Given the description of an element on the screen output the (x, y) to click on. 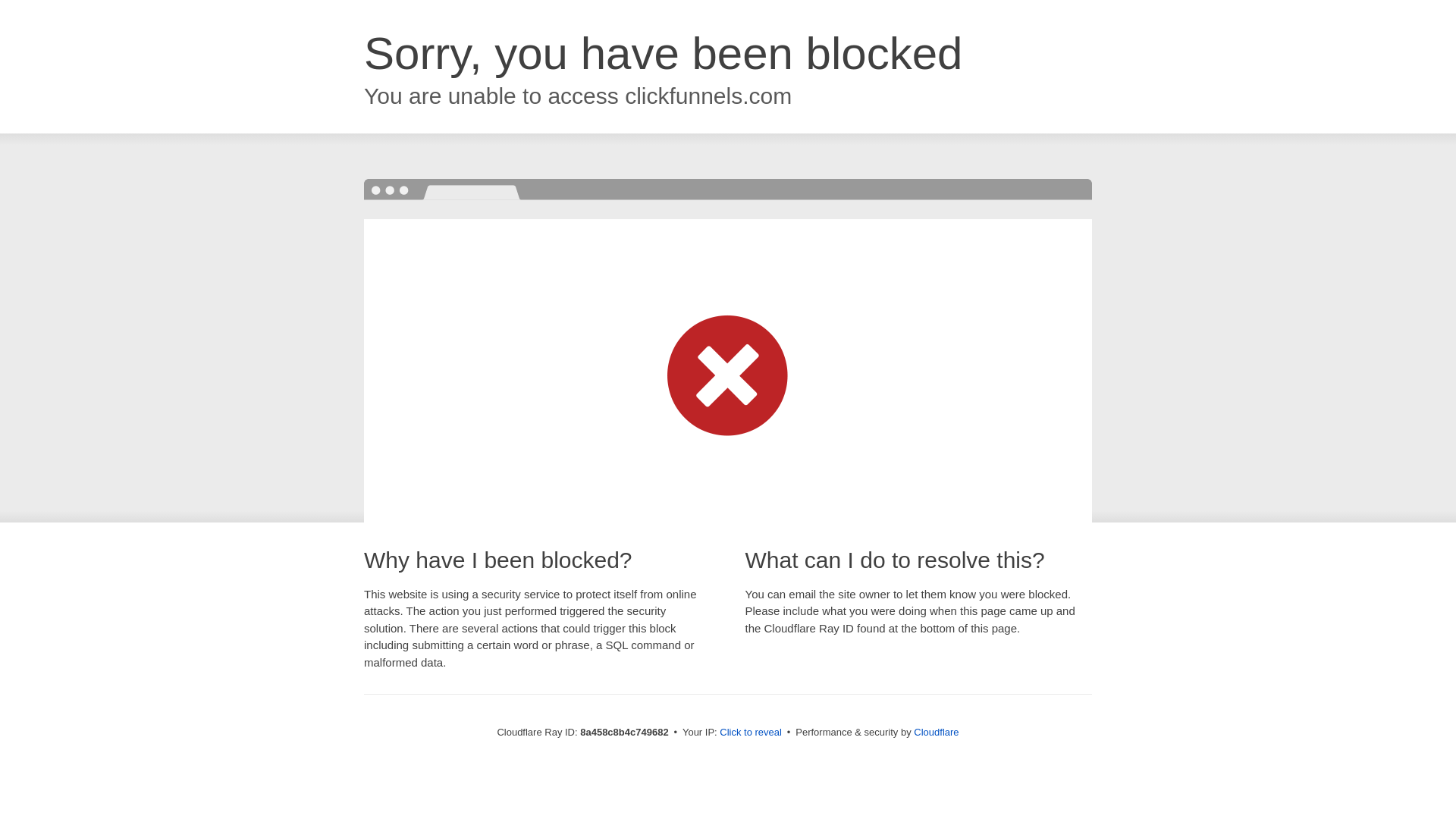
Cloudflare (936, 731)
Click to reveal (750, 732)
